Given the description of an element on the screen output the (x, y) to click on. 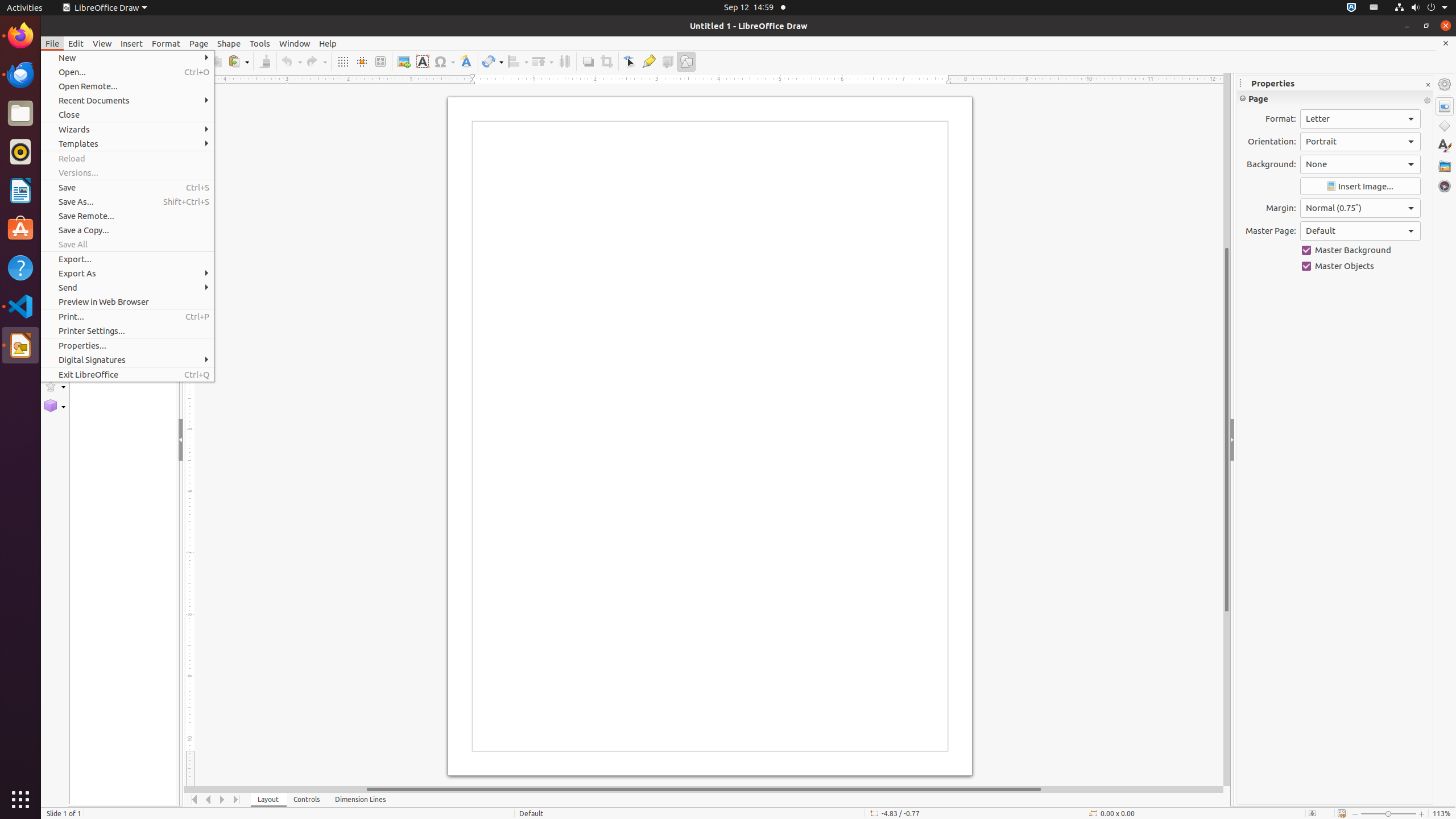
Helplines While Moving Element type: toggle-button (361, 61)
Paste Element type: push-button (237, 61)
Styles Element type: radio-button (1444, 146)
Preview in Web Browser Element type: menu-item (127, 301)
Grid Element type: toggle-button (342, 61)
